Given the description of an element on the screen output the (x, y) to click on. 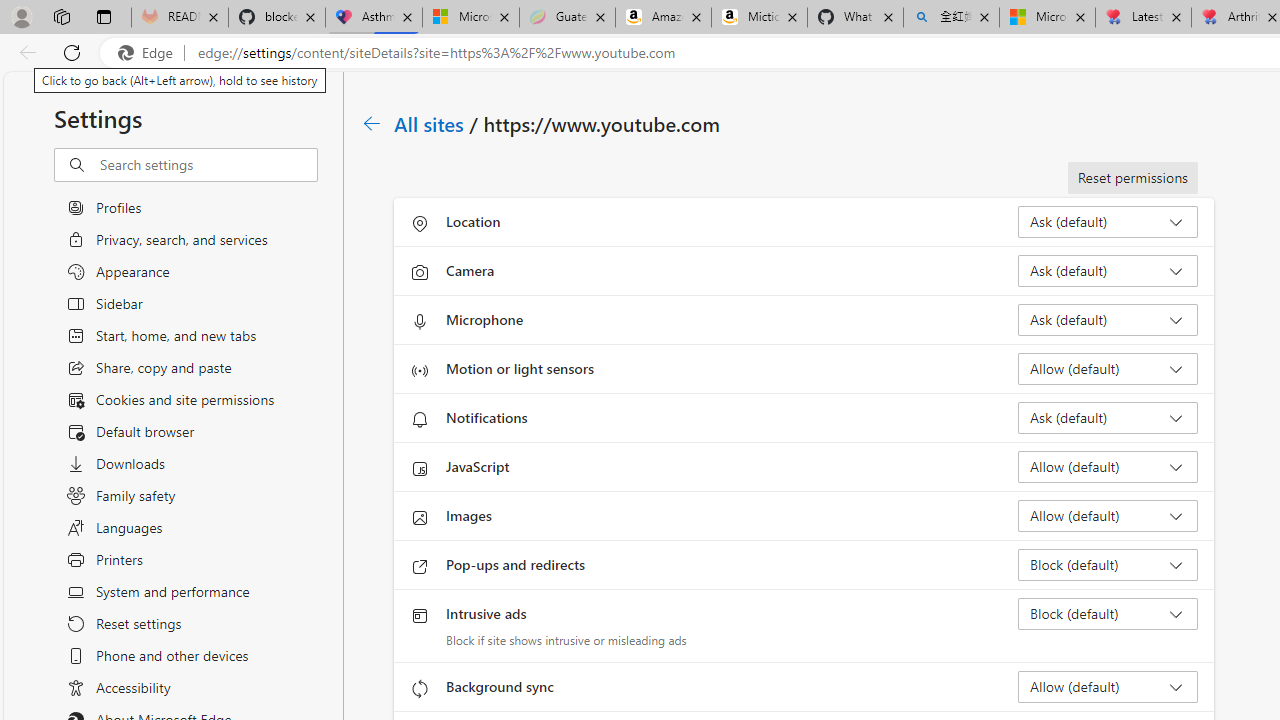
Asthma Inhalers: Names and Types (374, 17)
Intrusive ads Block (default) (1107, 614)
Class: c01162 (371, 123)
Reset permissions (1132, 177)
Camera Ask (default) (1107, 270)
Notifications Ask (default) (1107, 417)
All sites (429, 123)
Pop-ups and redirects Block (default) (1107, 564)
